Given the description of an element on the screen output the (x, y) to click on. 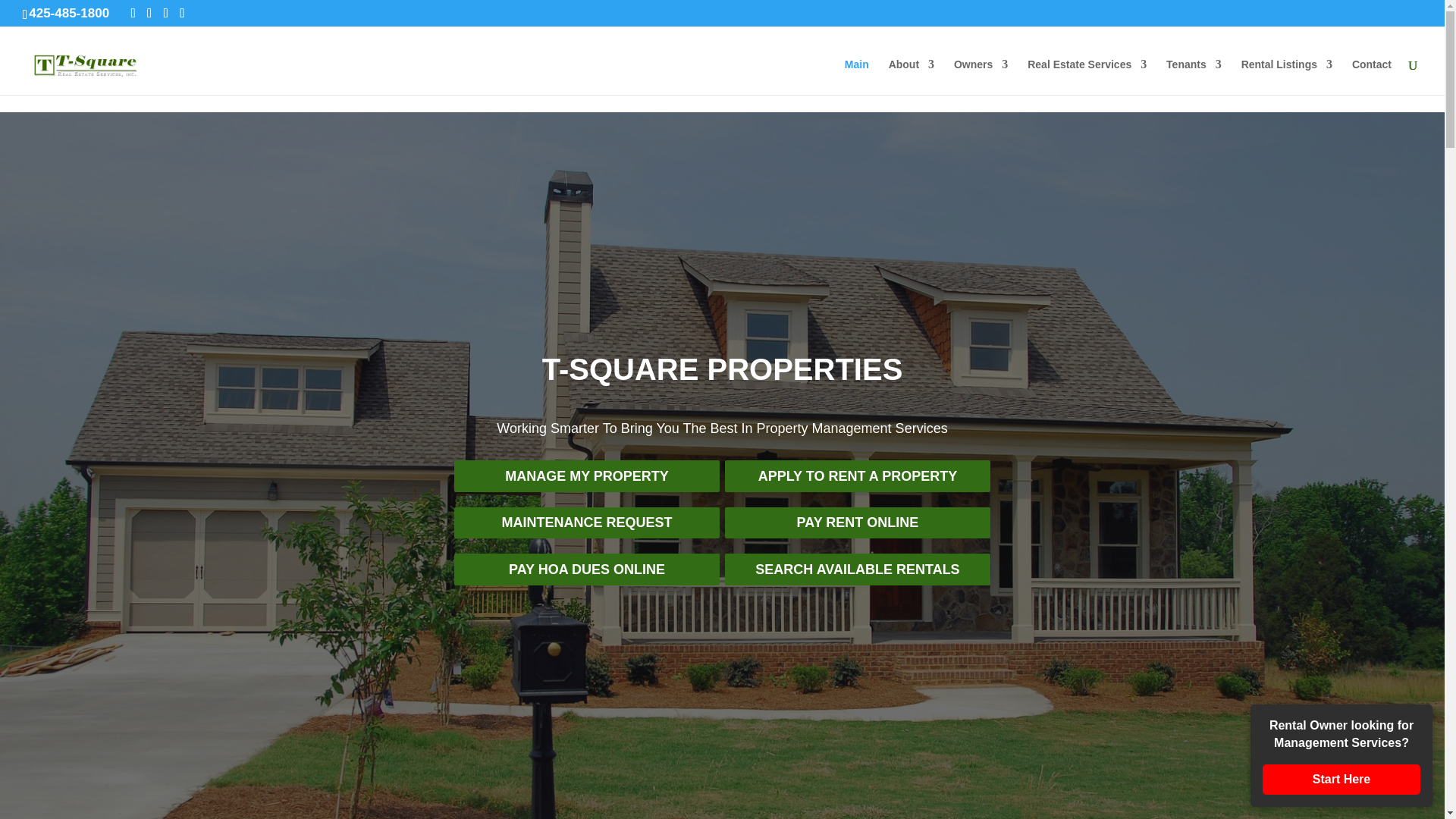
Main (856, 76)
About (911, 76)
Owners (980, 76)
425-485-1800 (66, 12)
